Given the description of an element on the screen output the (x, y) to click on. 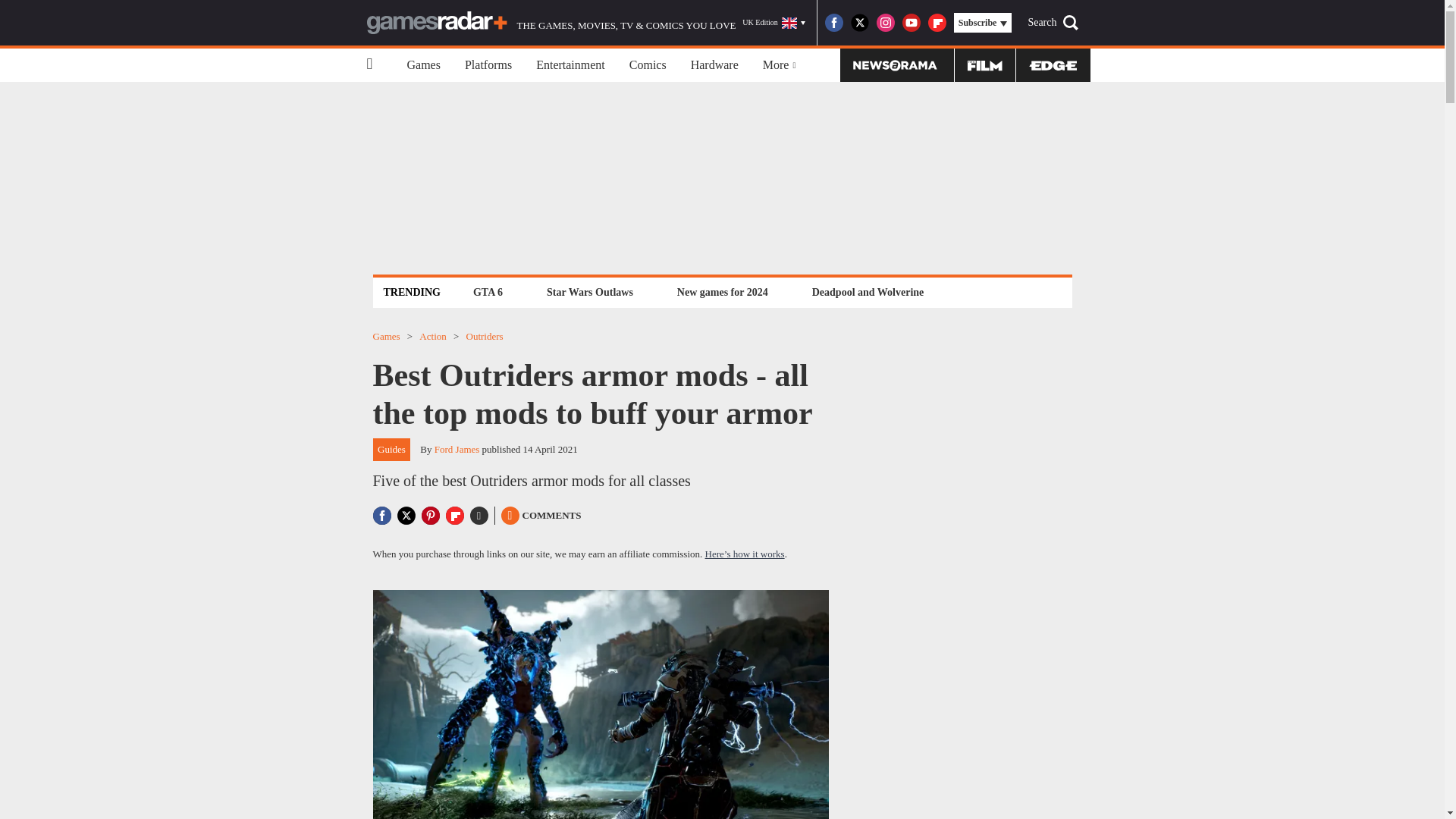
GTA 6 (487, 292)
Games (422, 64)
Platforms (488, 64)
Comics (647, 64)
Hardware (714, 64)
Entertainment (570, 64)
Star Wars Outlaws (590, 292)
Deadpool and Wolverine (868, 292)
New games for 2024 (722, 292)
UK Edition (773, 22)
